Given the description of an element on the screen output the (x, y) to click on. 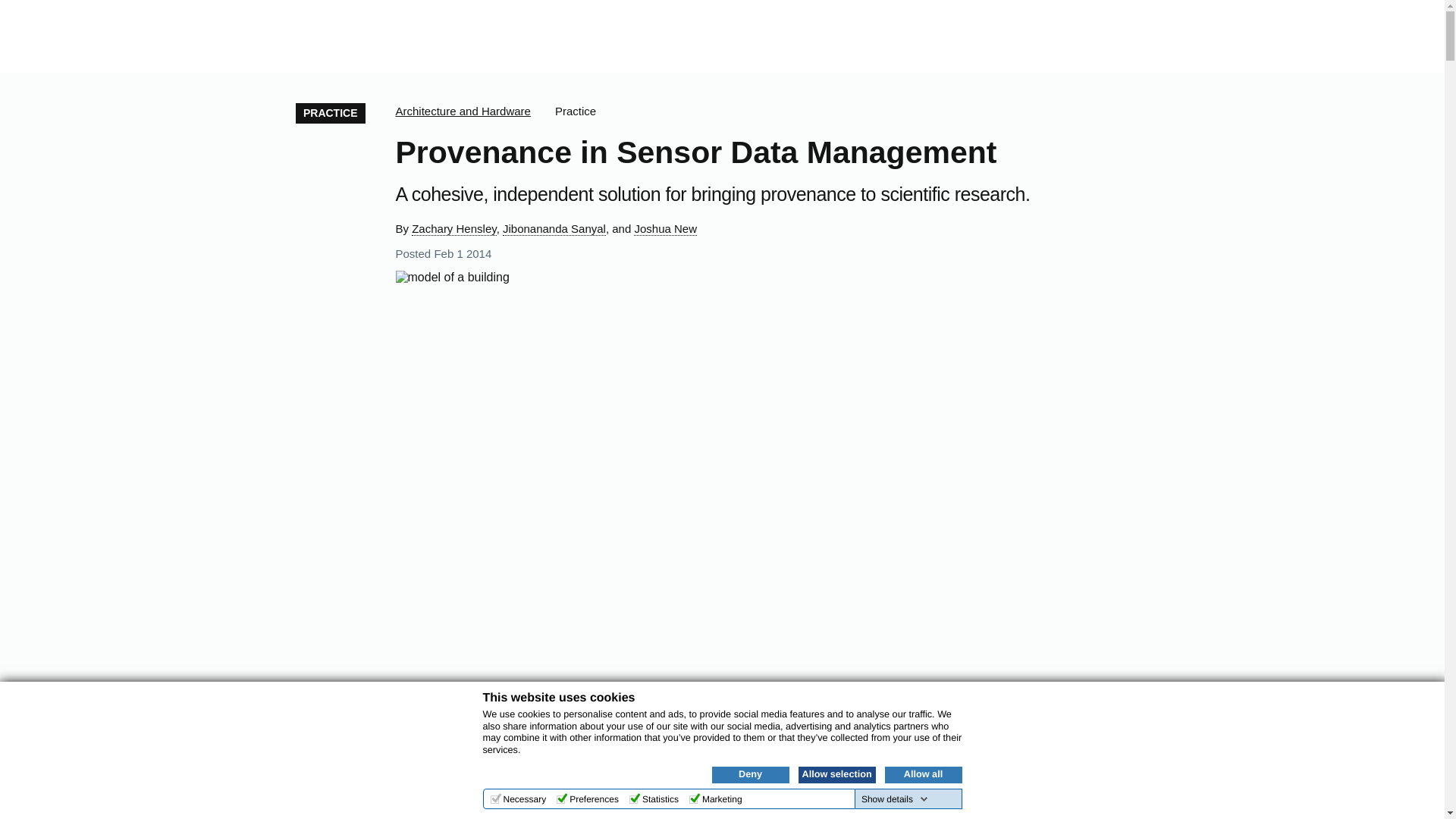
Allow all (921, 774)
Allow selection (836, 774)
Show details (895, 799)
Deny (750, 774)
